Given the description of an element on the screen output the (x, y) to click on. 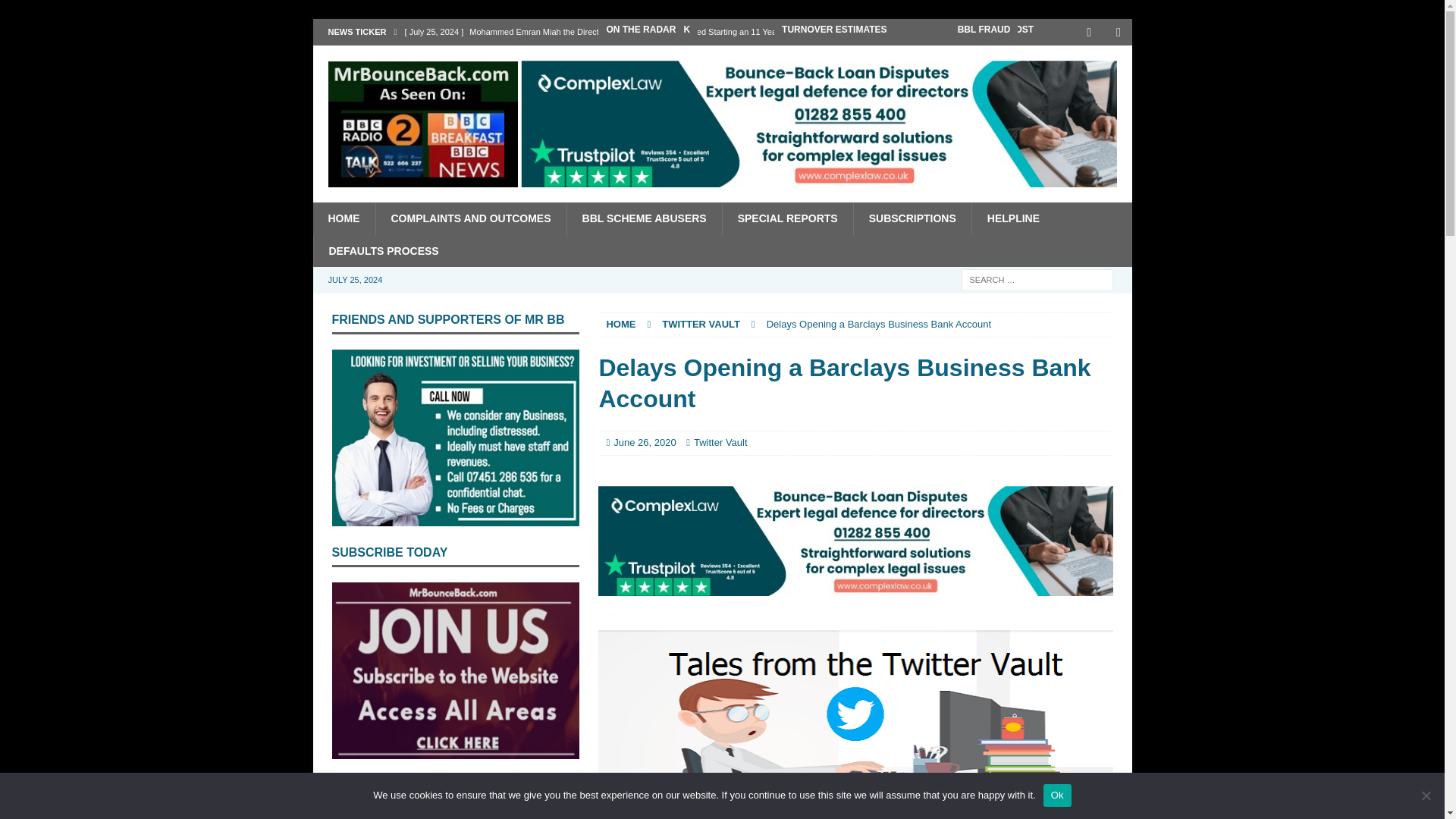
DEFAULTS PROCESS (382, 250)
HOME (619, 324)
HELPLINE (1012, 218)
Search (56, 11)
SUBSCRIPTIONS (912, 218)
Twitter Vault (721, 441)
BBL SCHEME ABUSERS (644, 218)
SPECIAL REPORTS (787, 218)
HOME (343, 218)
COMPLAINTS AND OUTCOMES (470, 218)
June 26, 2020 (643, 441)
TWITTER VAULT (700, 324)
